Given the description of an element on the screen output the (x, y) to click on. 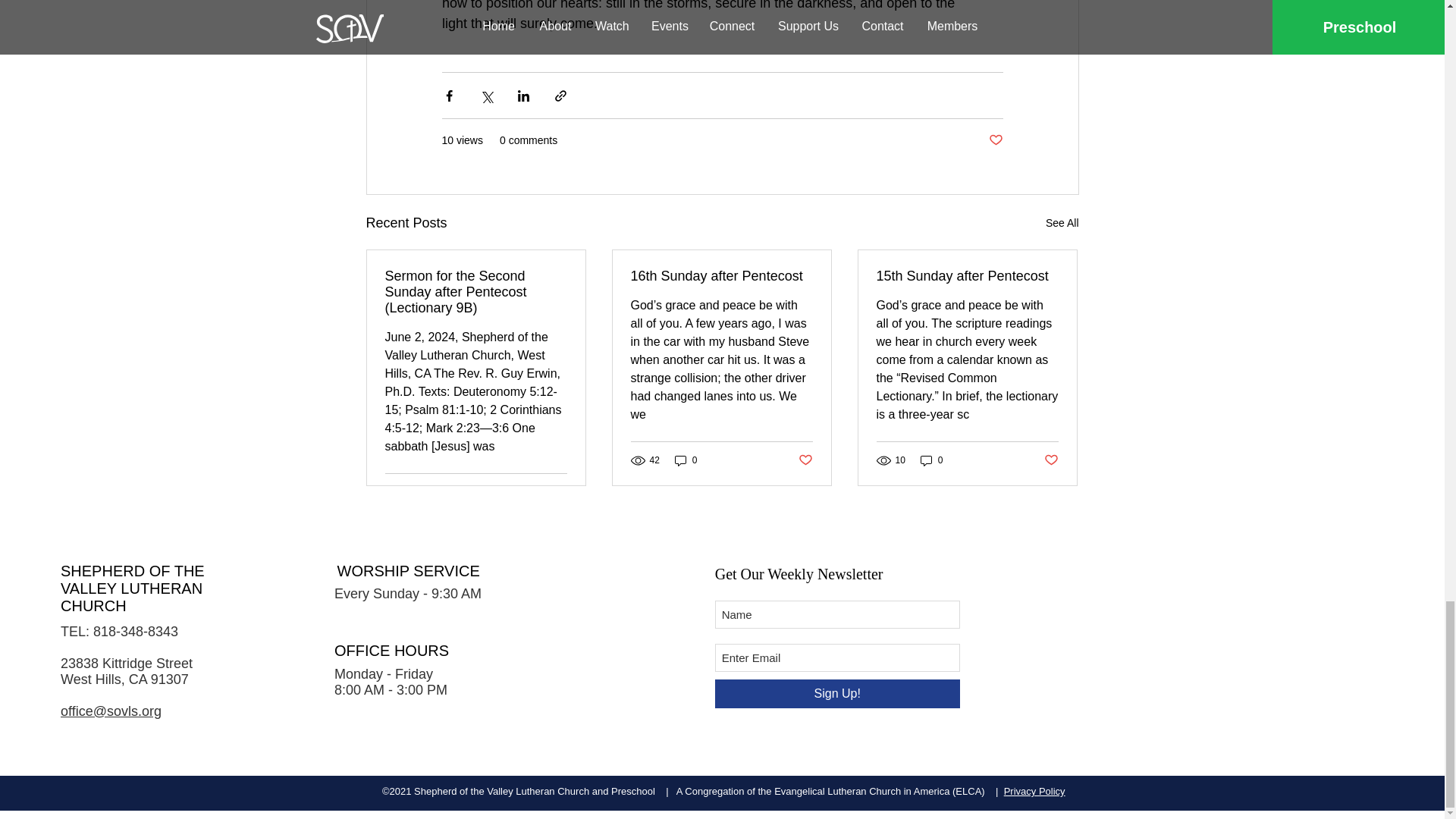
Post not marked as liked (995, 140)
0 (931, 459)
0 (685, 459)
Post not marked as liked (558, 492)
Post not marked as liked (1050, 460)
16th Sunday after Pentecost (721, 276)
Post not marked as liked (804, 460)
See All (1061, 223)
15th Sunday after Pentecost (967, 276)
